Given the description of an element on the screen output the (x, y) to click on. 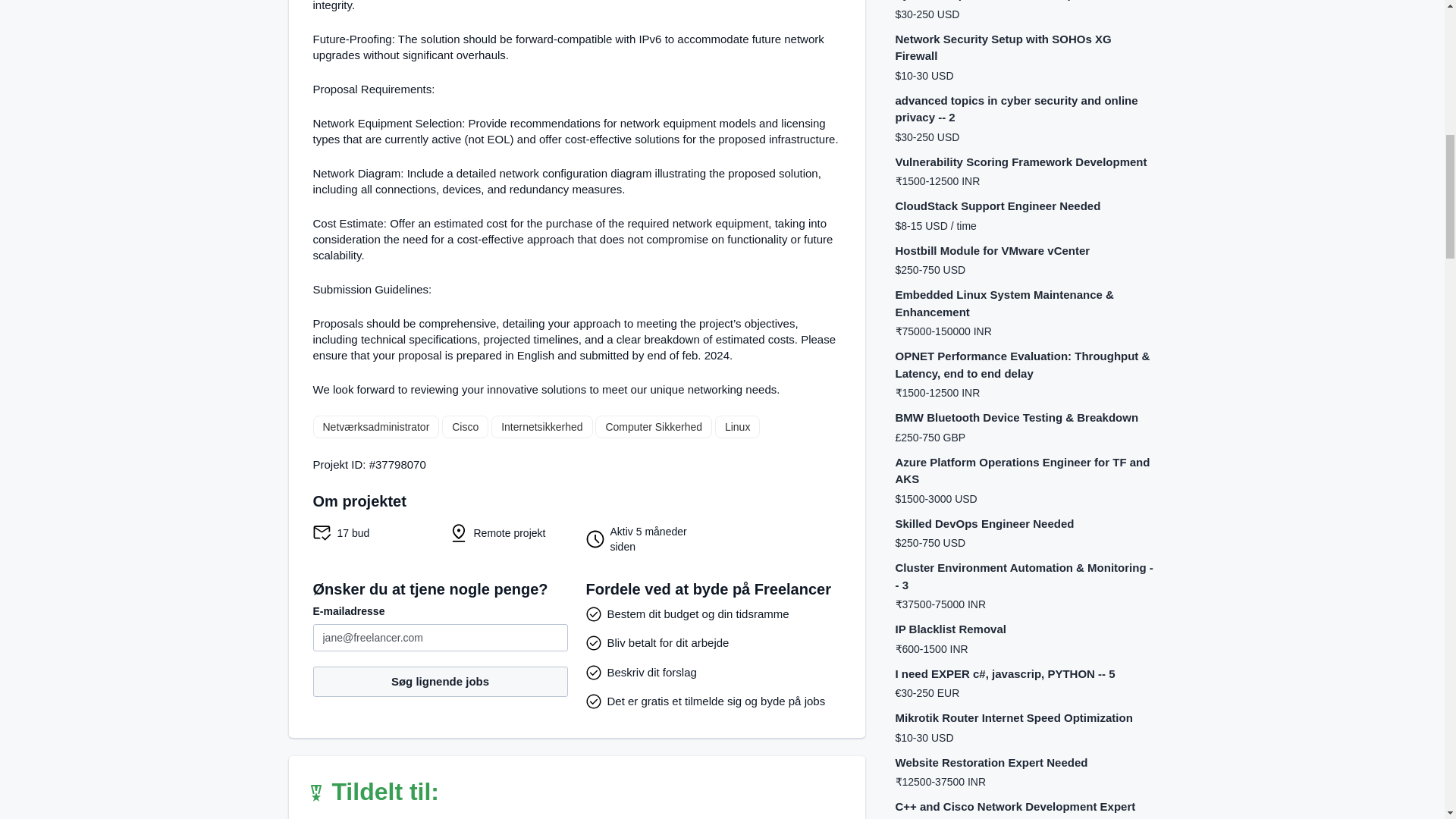
Internetsikkerhed (542, 426)
Computer Sikkerhed (653, 426)
Cisco (464, 426)
Linux (737, 426)
